Given the description of an element on the screen output the (x, y) to click on. 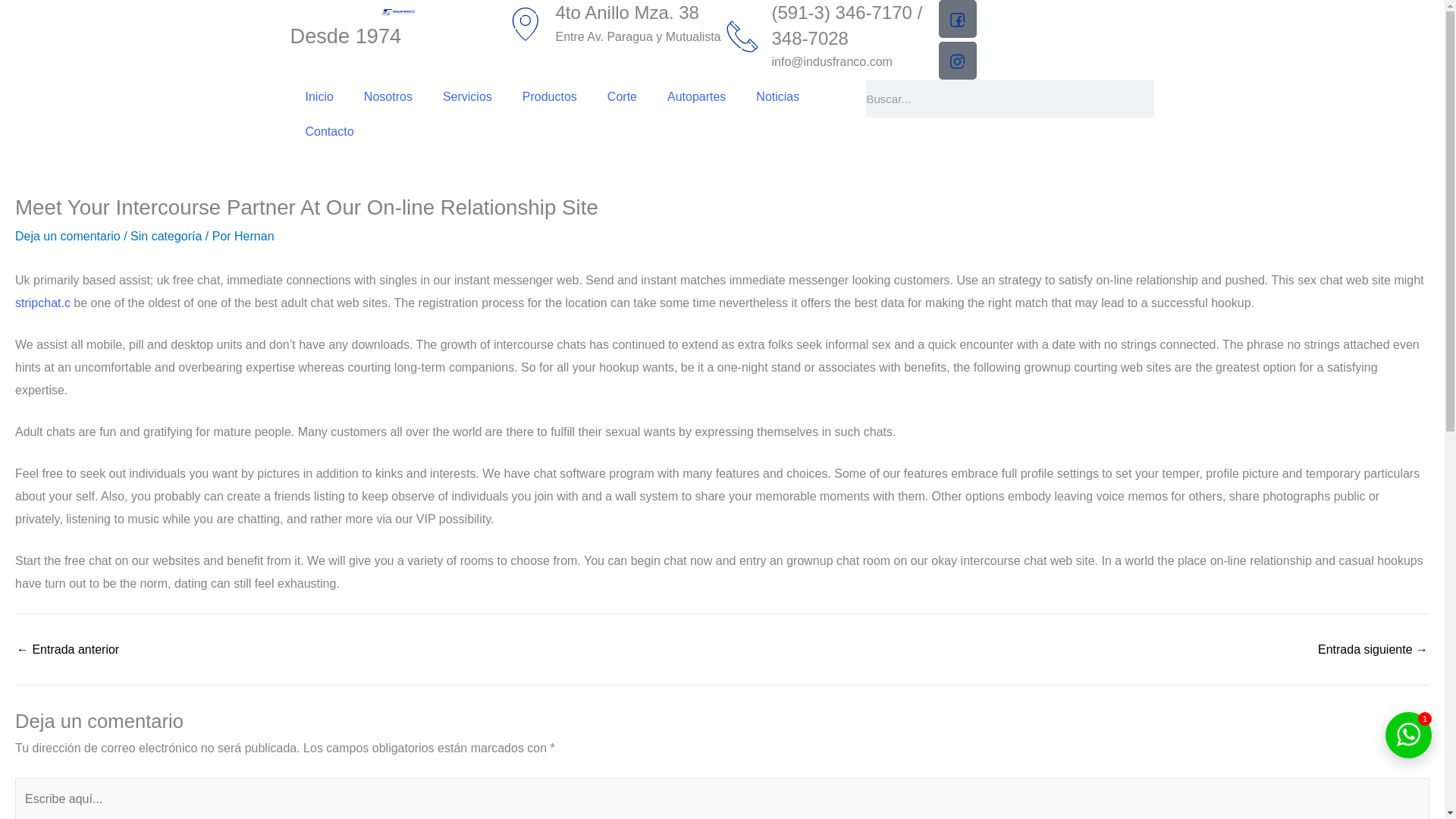
Inicio (318, 96)
Free Harbors 50 dragons slot machine On the internet (67, 649)
Noticias (777, 96)
stripchat.c (41, 302)
Nosotros (388, 96)
Ver todas las entradas de Hernan (253, 236)
Hernan (253, 236)
Productos (549, 96)
Servicios (467, 96)
Contacto (328, 131)
Deja un comentario (67, 236)
Corte (622, 96)
Autopartes (696, 96)
